Given the description of an element on the screen output the (x, y) to click on. 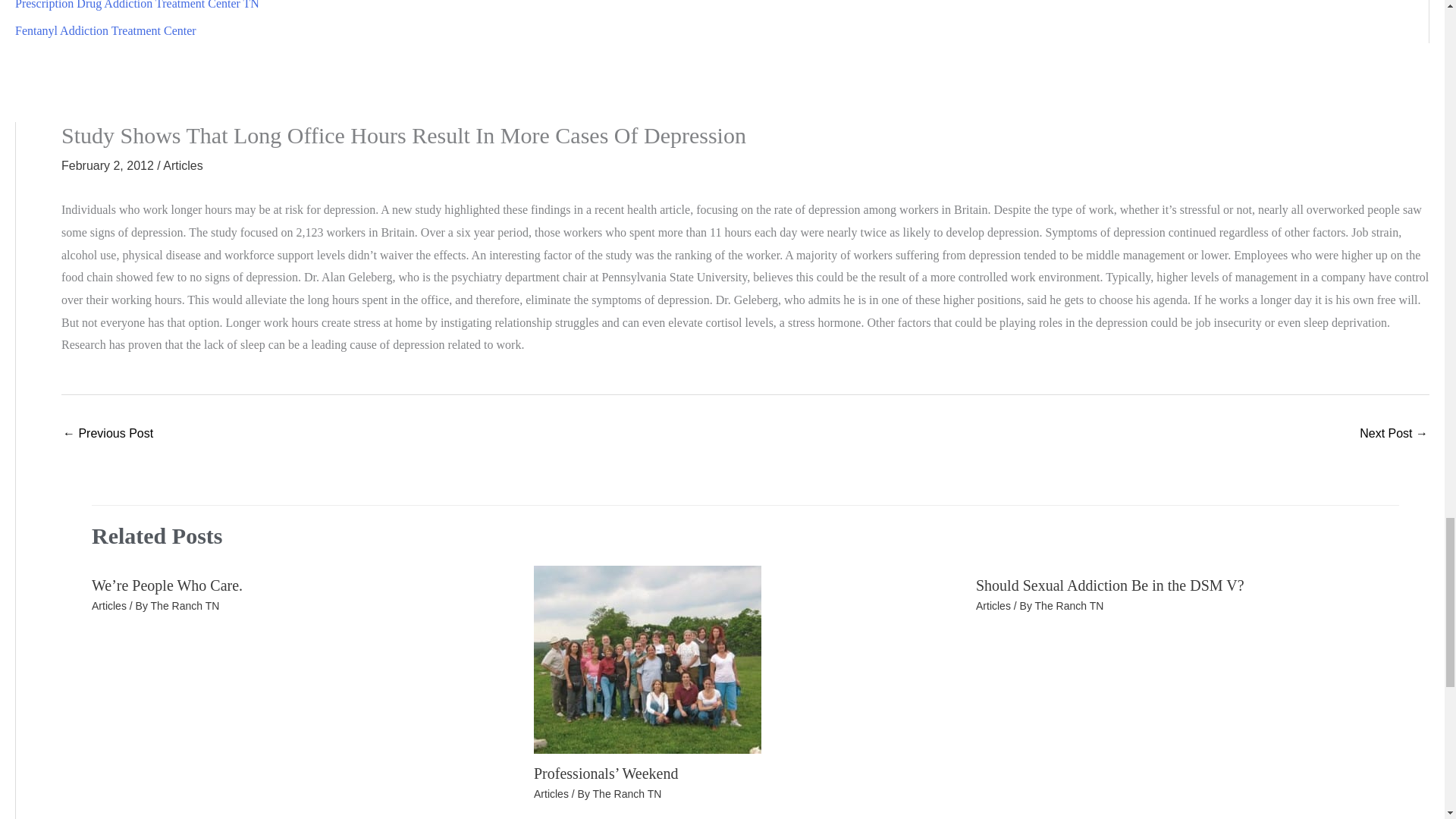
View all posts by The Ranch TN (627, 793)
View all posts by The Ranch TN (1069, 605)
View all posts by The Ranch TN (185, 605)
